Given the description of an element on the screen output the (x, y) to click on. 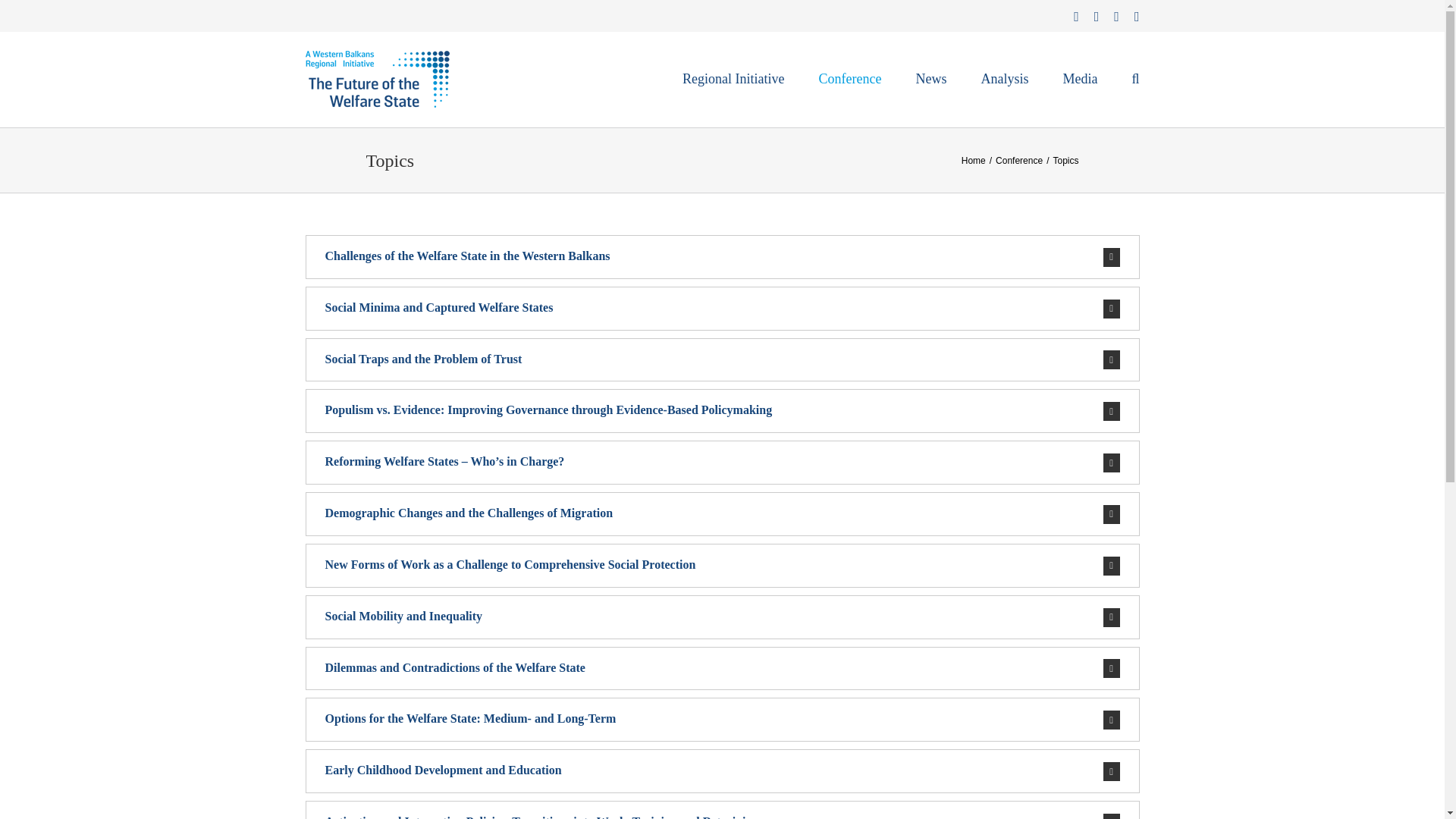
Conference (1018, 159)
Home (972, 159)
Regional Initiative (733, 78)
